Given the description of an element on the screen output the (x, y) to click on. 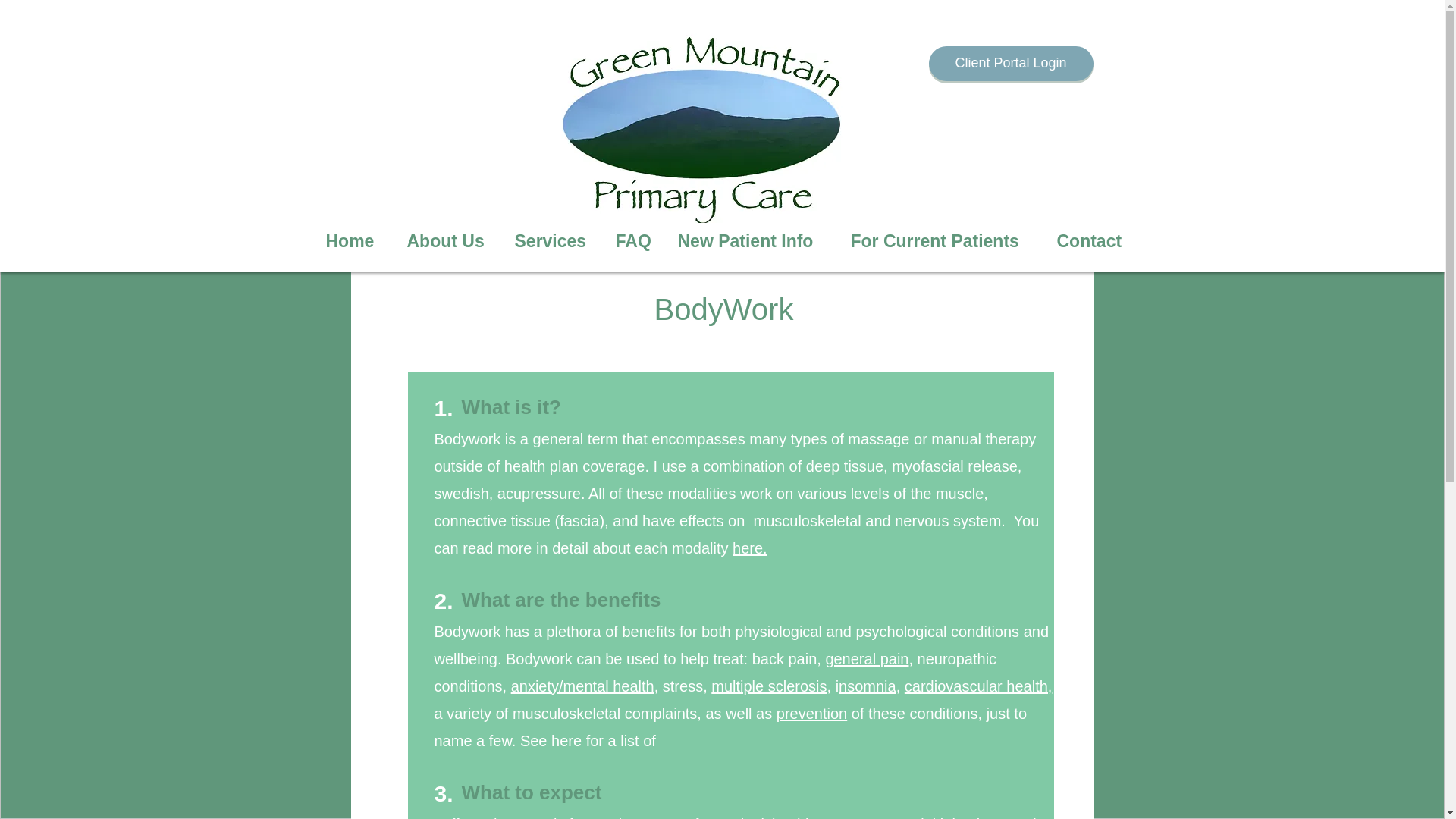
multiple sclerosis (769, 686)
prevention (811, 713)
cardiovascular health, (978, 686)
here. (749, 547)
For Current Patients (941, 240)
Contact (1095, 240)
general pain (866, 658)
New Patient Info (751, 240)
FAQ (634, 240)
nsomnia (867, 686)
